Given the description of an element on the screen output the (x, y) to click on. 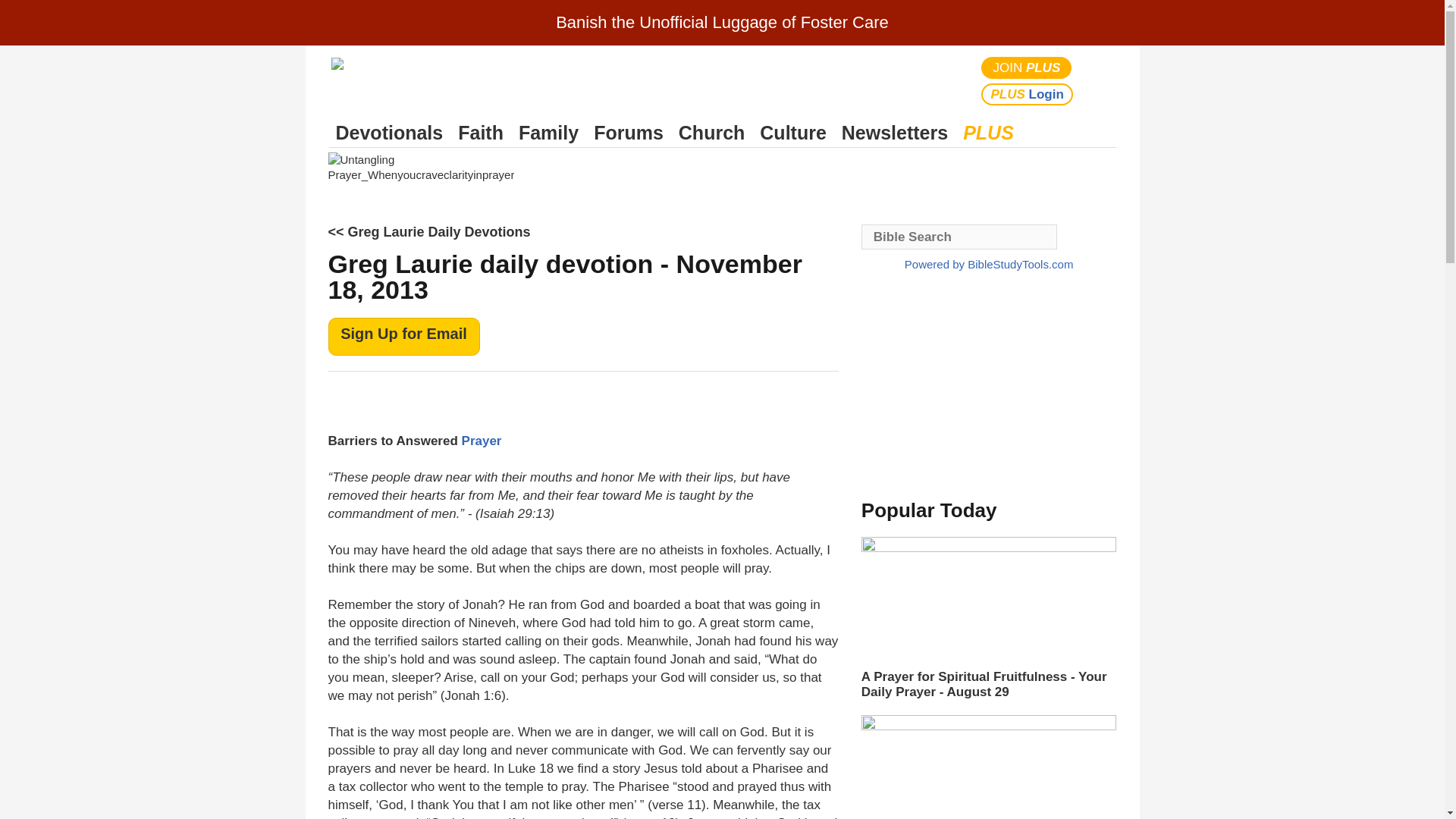
Plus Login (1026, 94)
JOIN PLUS (1026, 67)
Devotionals (389, 132)
Join Plus (1026, 67)
Faith (481, 132)
Search (1101, 80)
PLUS Login (1026, 94)
